Given the description of an element on the screen output the (x, y) to click on. 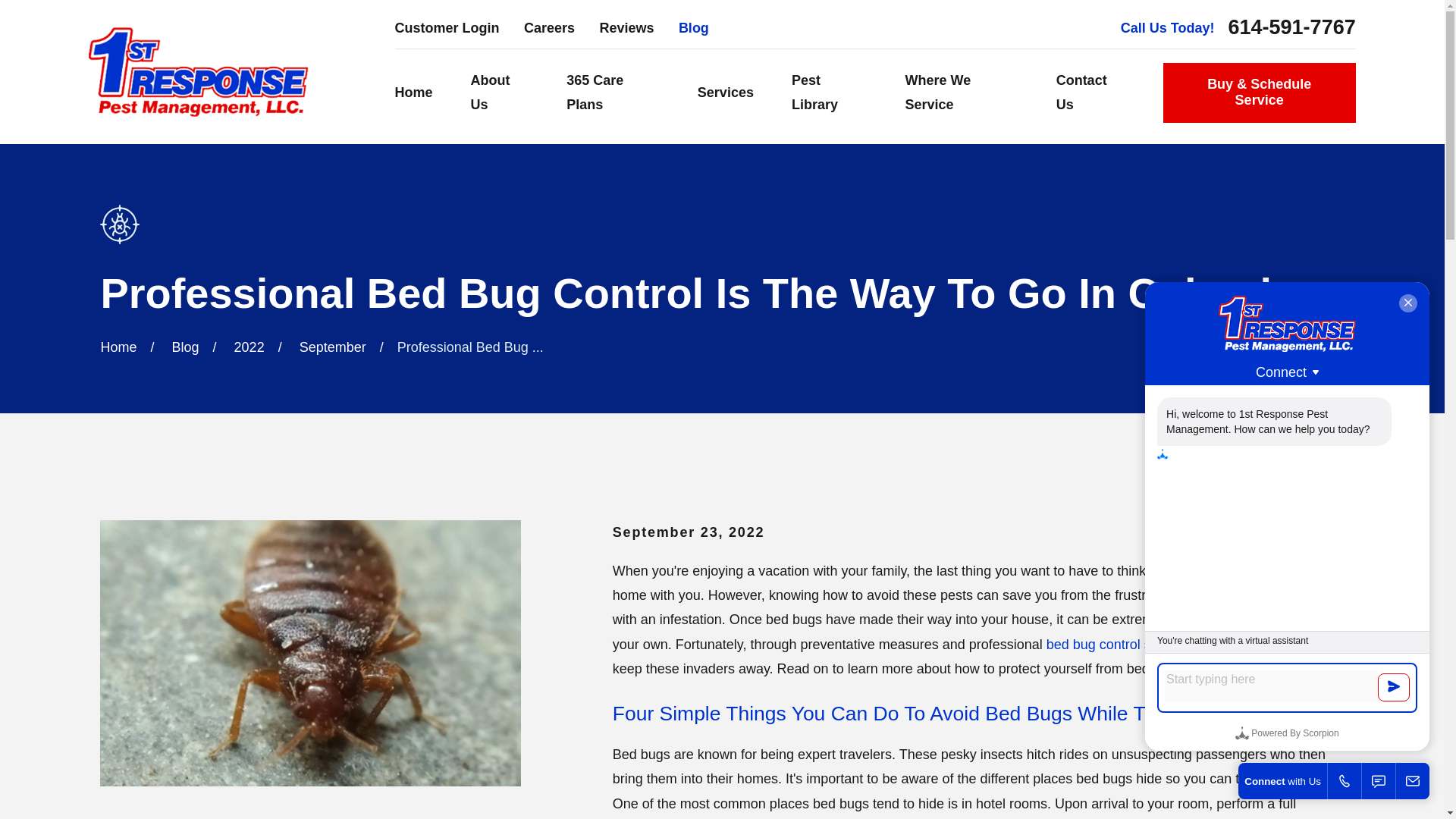
About Us (499, 92)
365 Care Plans (612, 92)
Careers (549, 28)
Services (725, 92)
Reviews (625, 28)
Pest Library (829, 92)
Go Home (118, 346)
Customer Login (446, 28)
Home (198, 71)
614-591-7767 (1291, 27)
